Given the description of an element on the screen output the (x, y) to click on. 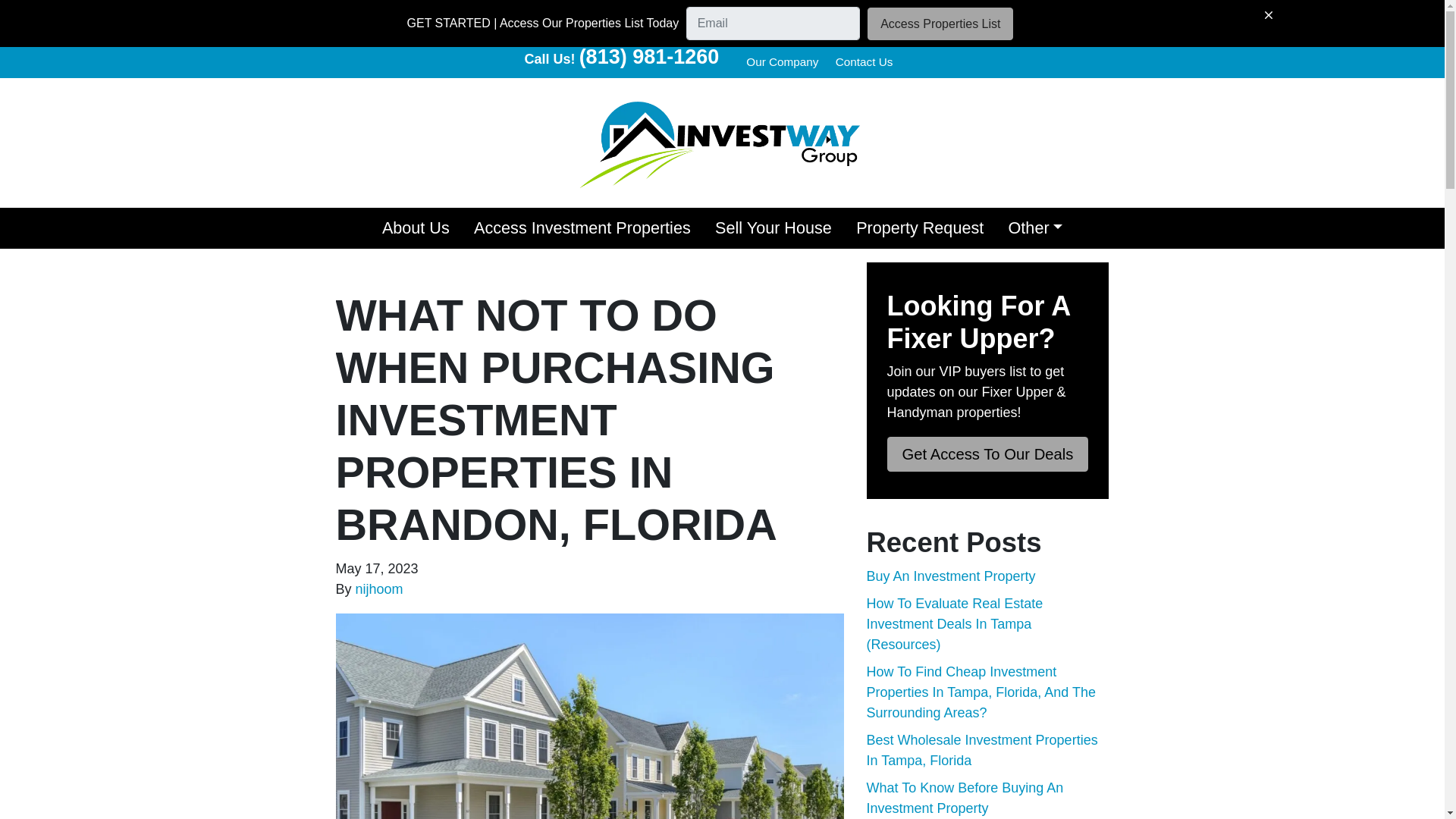
Access Properties List (940, 23)
nijhoom (379, 589)
What To Know Before Buying An Investment Property (964, 797)
Property Request (919, 228)
Access Investment Properties (582, 228)
Our Company (782, 61)
Other (1034, 228)
About Us (415, 228)
Access Properties List (940, 23)
Buy An Investment Property (950, 575)
